Given the description of an element on the screen output the (x, y) to click on. 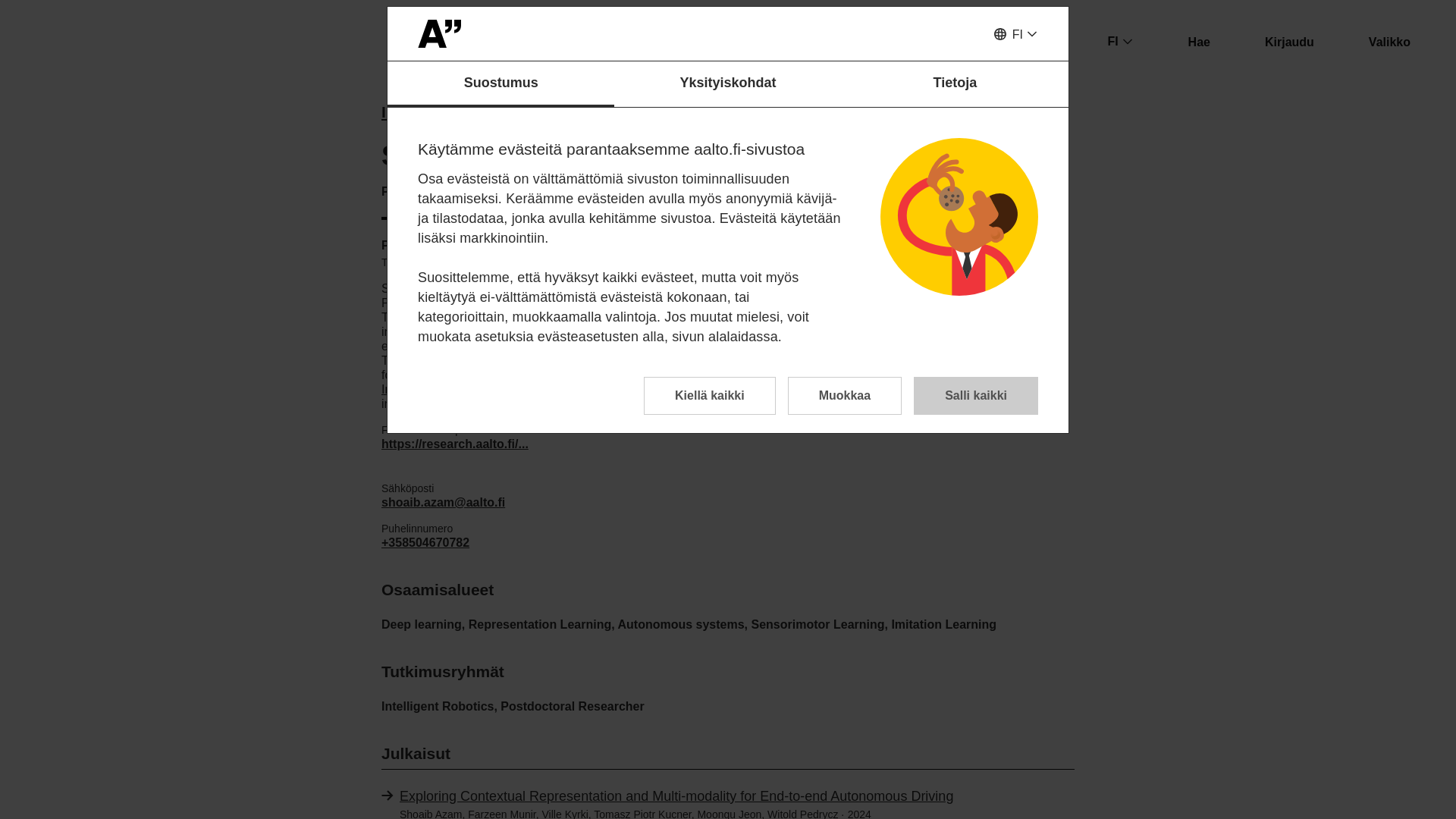
Yksityiskohdat (727, 84)
Tietoja (954, 84)
Suostumus (500, 84)
FI (1014, 34)
